Given the description of an element on the screen output the (x, y) to click on. 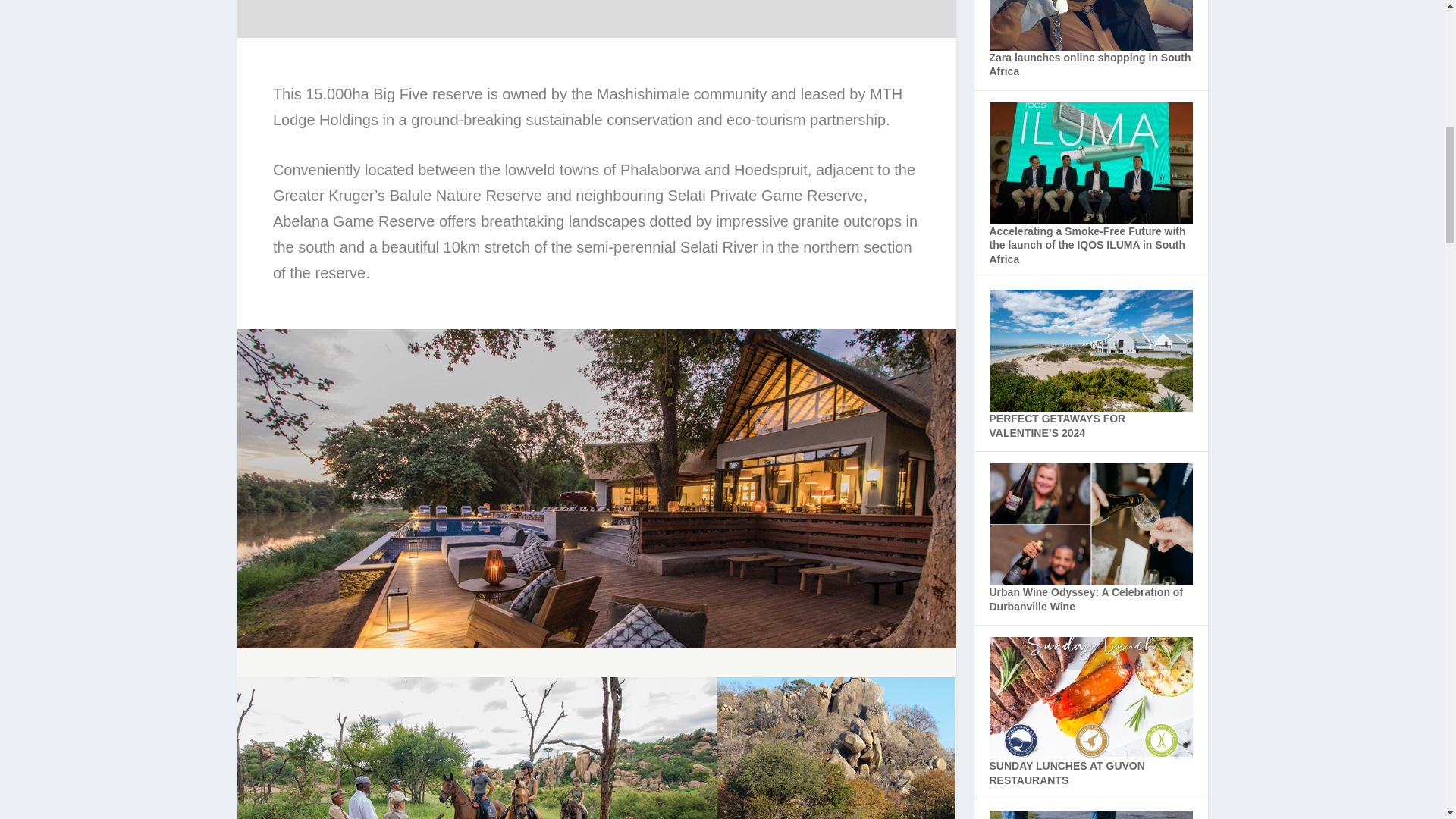
Image-3 (475, 748)
Image-above-pullquote (835, 748)
